Given the description of an element on the screen output the (x, y) to click on. 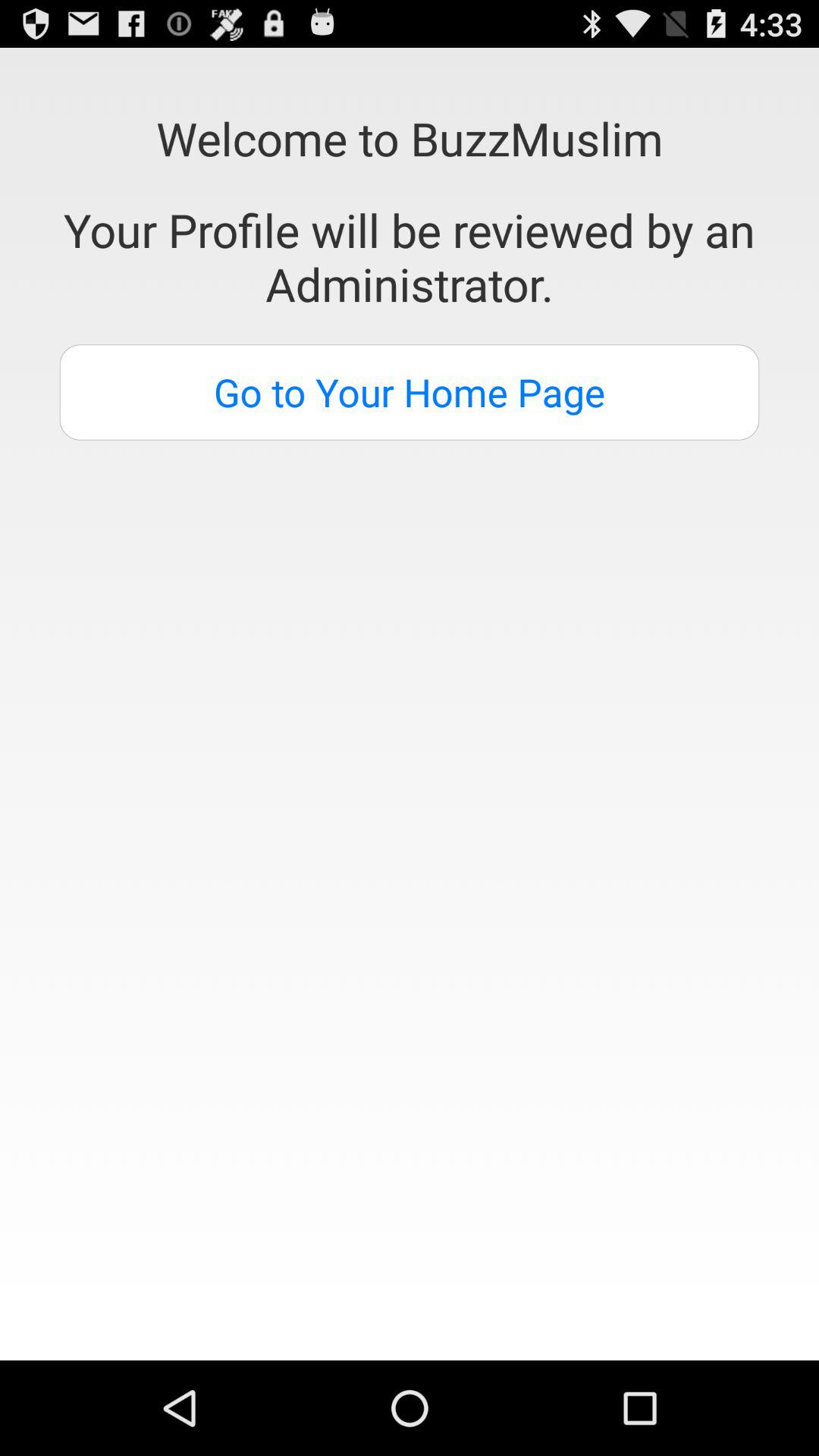
select go to your item (409, 392)
